Given the description of an element on the screen output the (x, y) to click on. 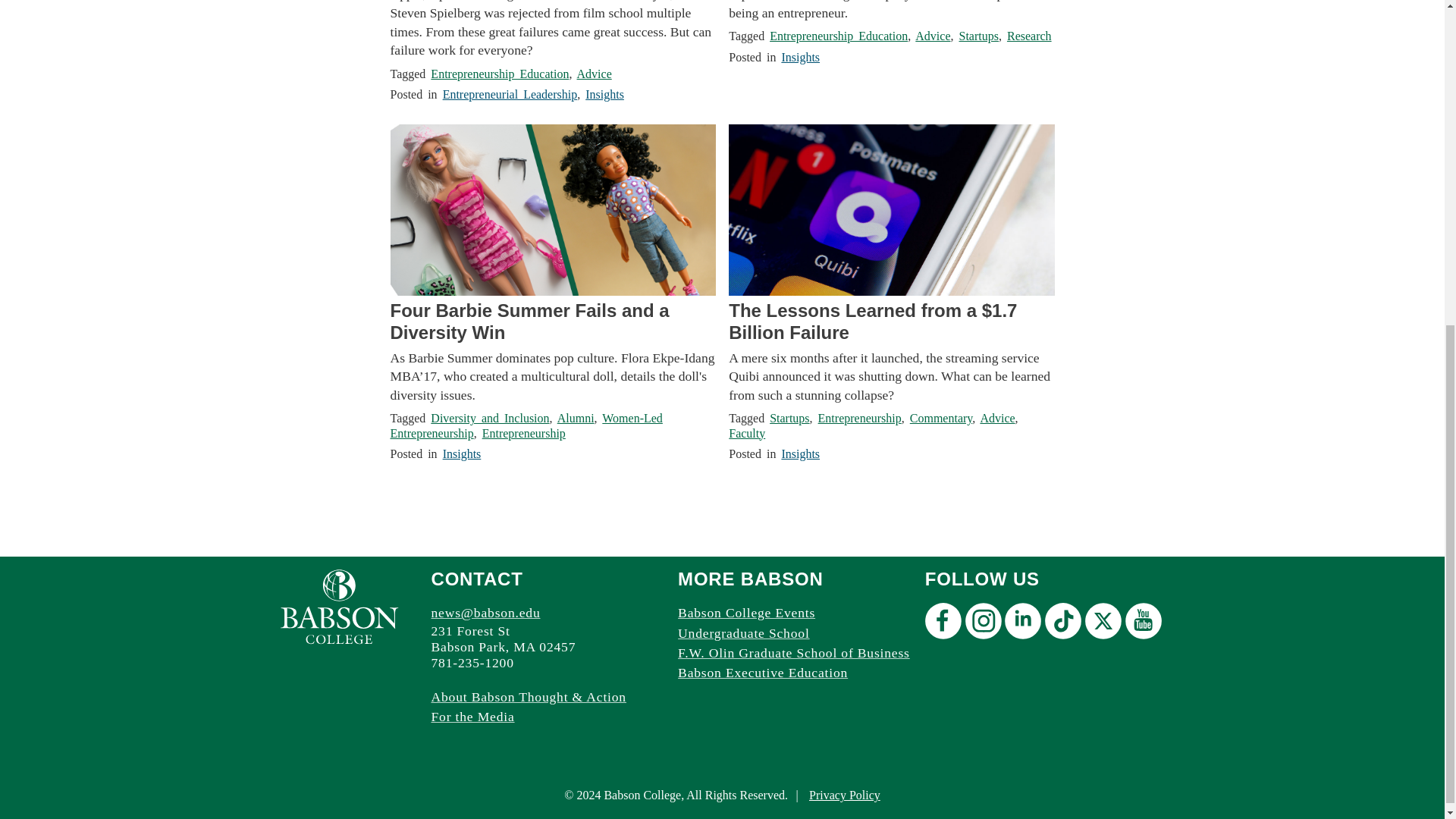
Entrepreneurial Leadership (510, 93)
Advice (593, 73)
Startups (977, 35)
Women-Led Entrepreneurship (526, 424)
Entrepreneurship Education (838, 35)
Diversity and Inclusion (489, 418)
Four Barbie Summer Fails and a Diversity Win (552, 321)
Entrepreneurship Education (499, 73)
Babson CollegeWhite Babson logo with globe graphic (338, 606)
Insights (604, 93)
Advice (932, 35)
Research (1029, 35)
Insights (799, 56)
Alumni (575, 418)
